Given the description of an element on the screen output the (x, y) to click on. 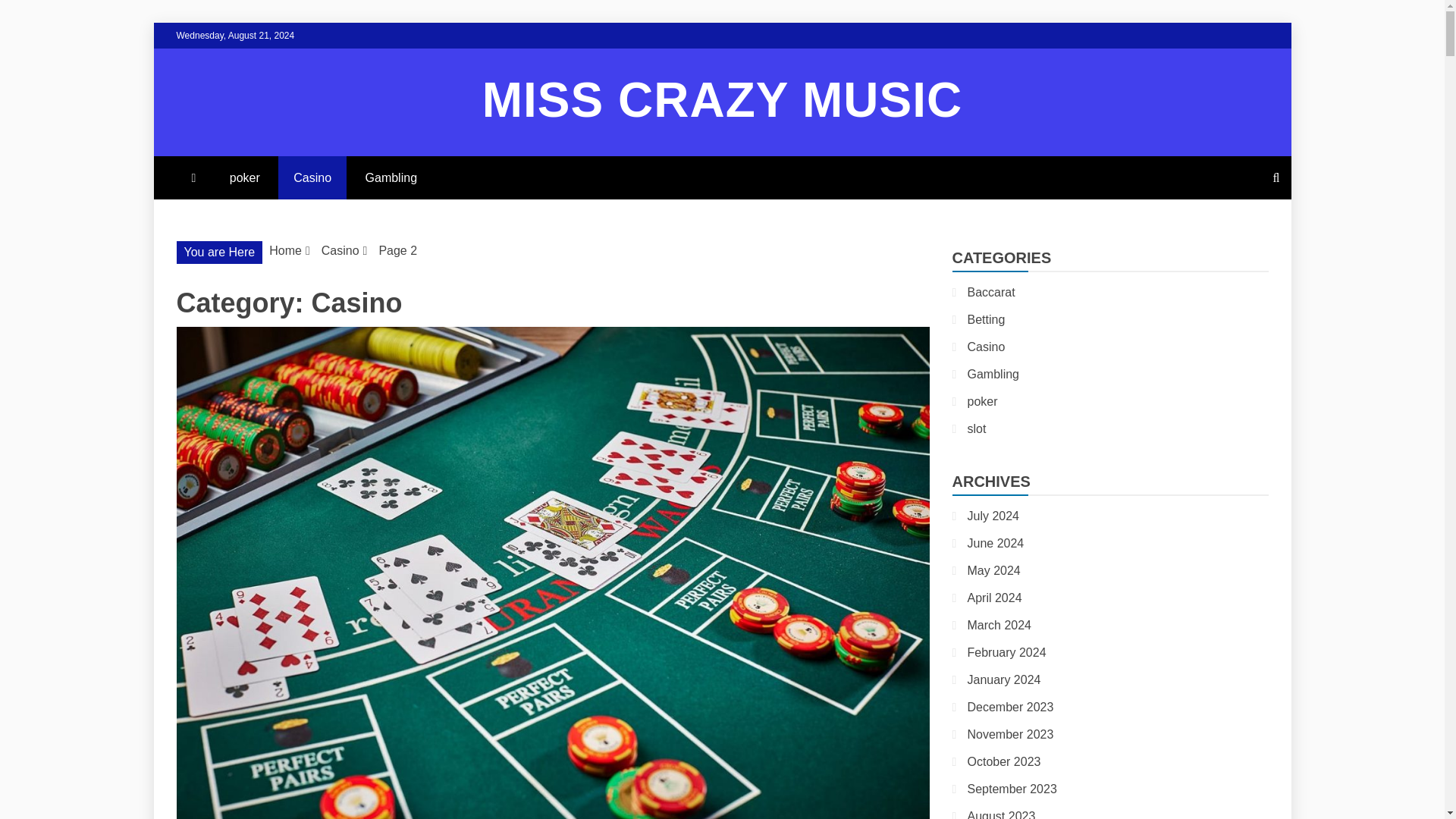
Home (285, 250)
Casino (312, 177)
Casino (340, 250)
MISS CRAZY MUSIC (721, 99)
Gambling (391, 177)
poker (244, 177)
